Given the description of an element on the screen output the (x, y) to click on. 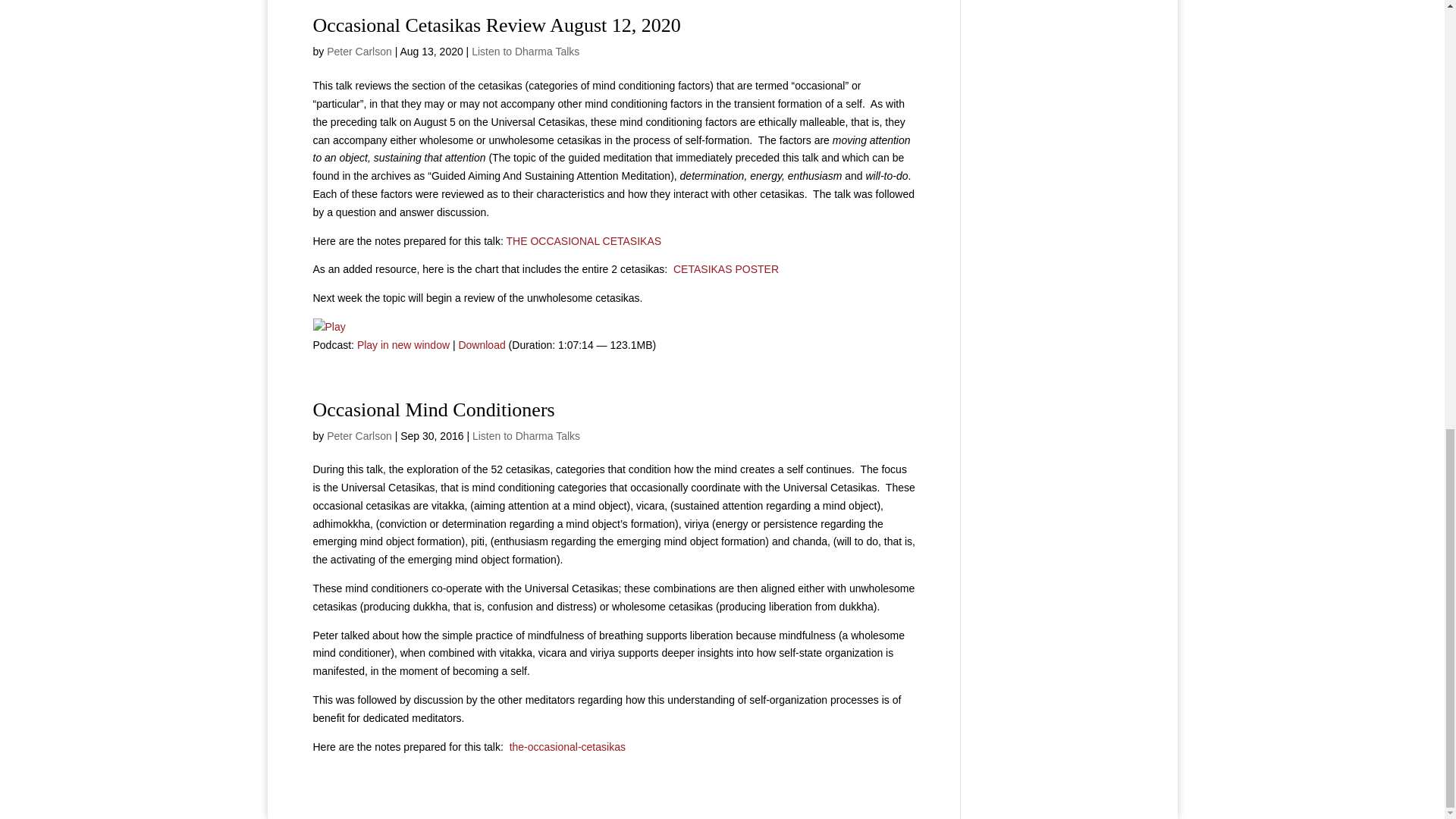
CETASIKAS POSTER (725, 268)
Peter Carlson (358, 51)
Download (481, 345)
THE OCCASIONAL CETASIKAS (584, 241)
Play (329, 327)
Posts by Peter Carlson (358, 435)
Posts by Peter Carlson (358, 51)
Listen to Dharma Talks (525, 51)
Play (329, 326)
Occasional Cetasikas Review August 12, 2020 (496, 25)
